Given the description of an element on the screen output the (x, y) to click on. 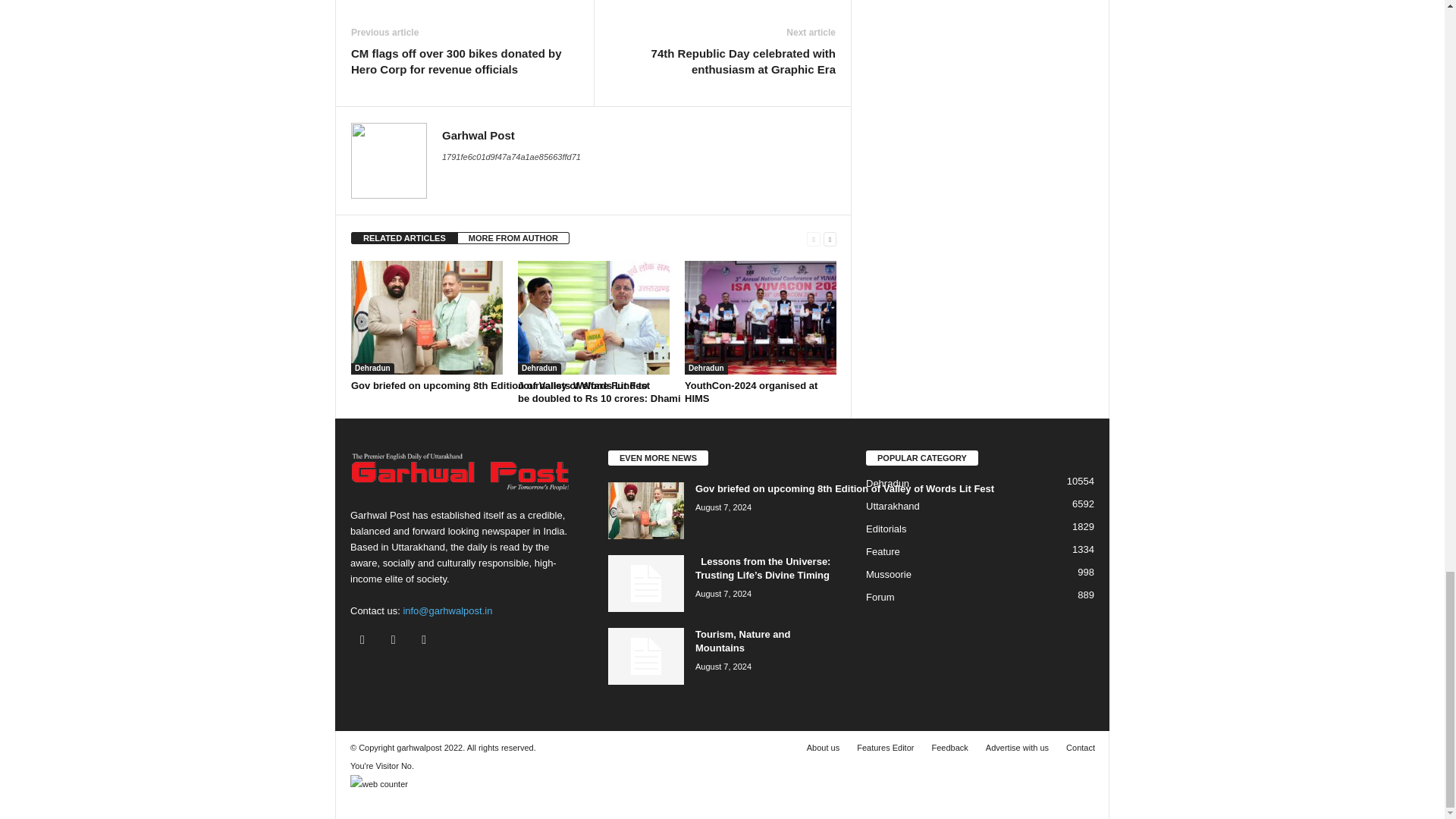
YouthCon-2024 organised at HIMS (750, 392)
YouthCon-2024 organised at HIMS (759, 317)
